Given the description of an element on the screen output the (x, y) to click on. 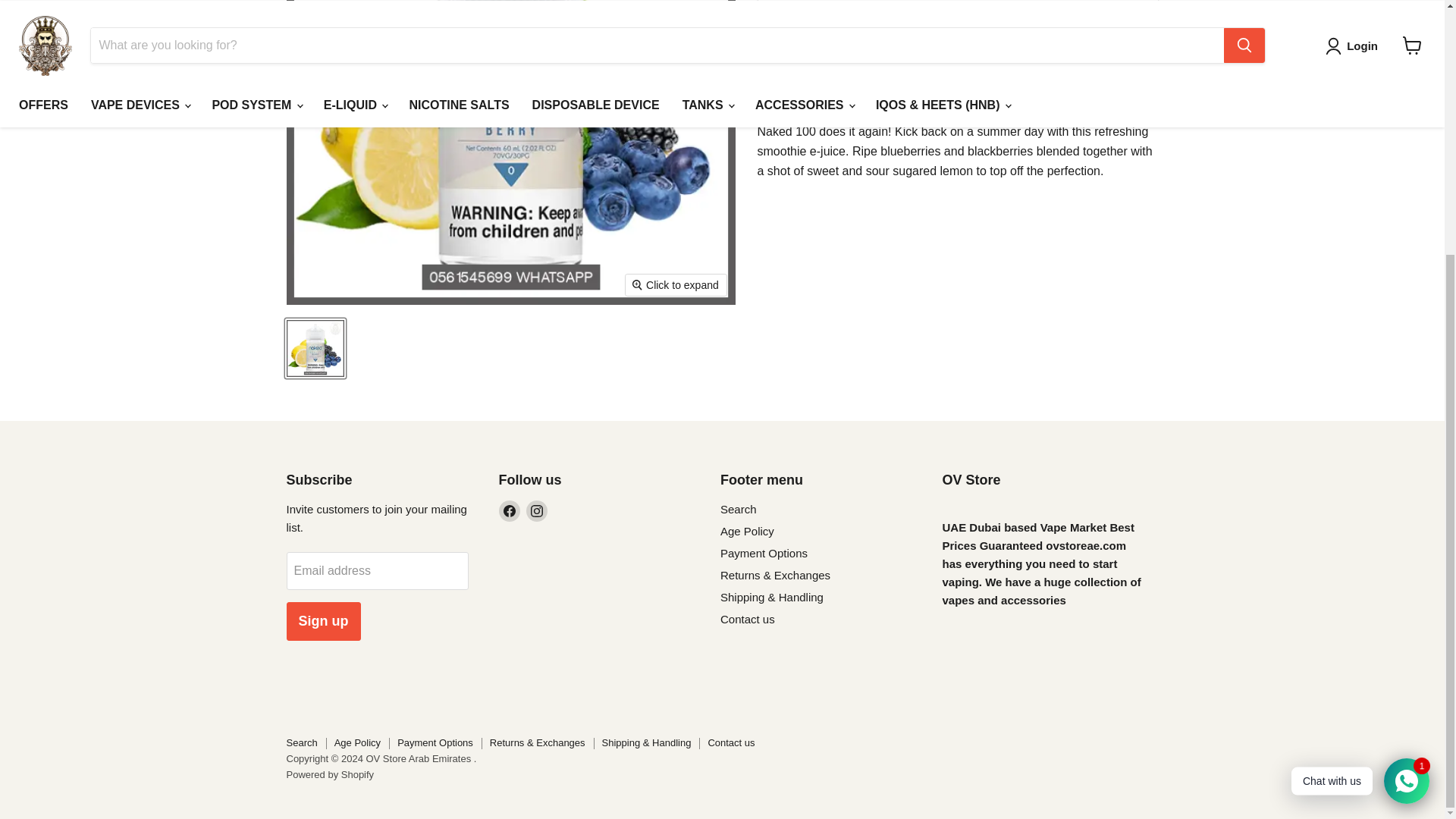
Facebook (509, 510)
1 (833, 88)
Instagram (536, 510)
